Given the description of an element on the screen output the (x, y) to click on. 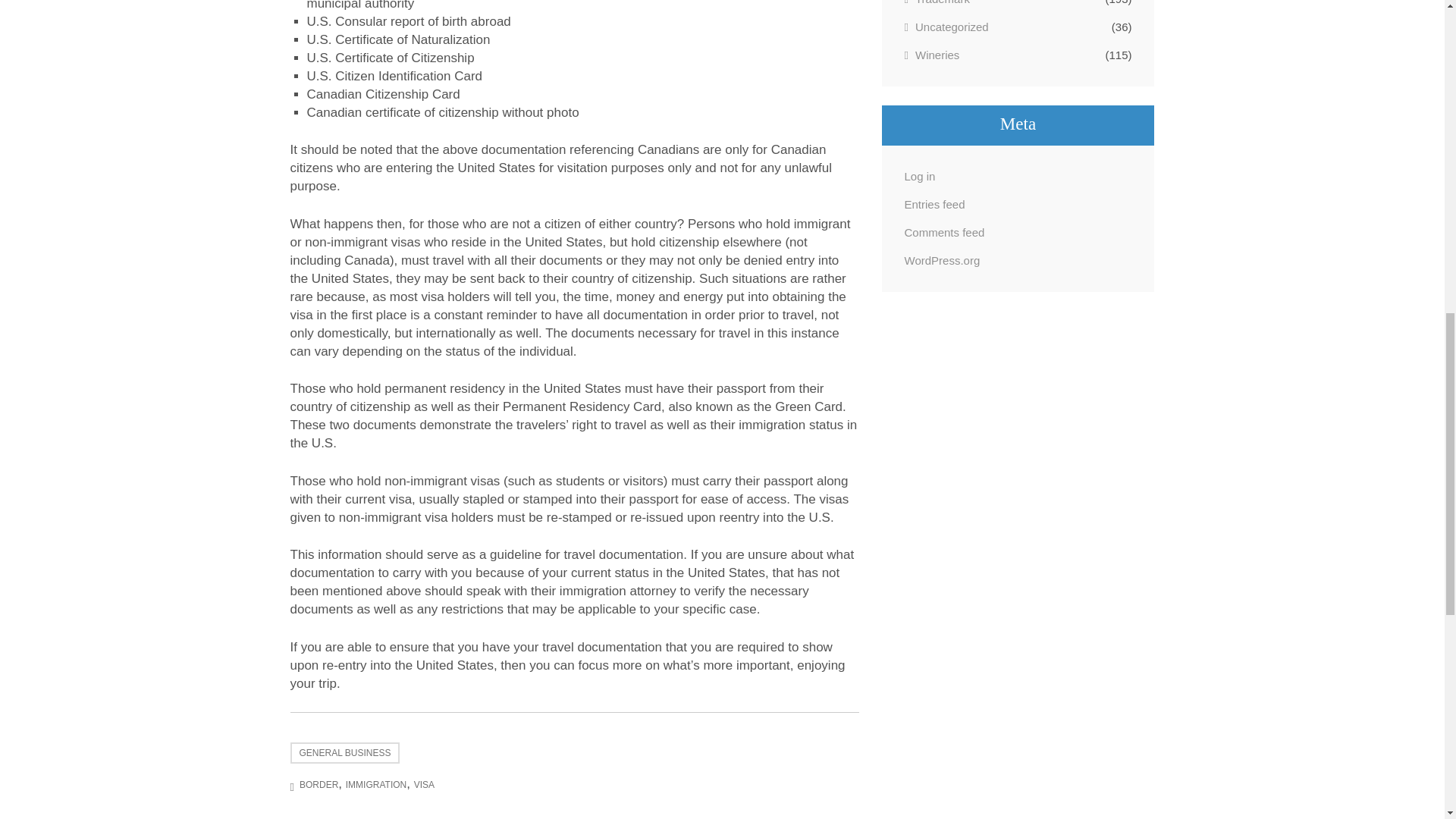
Uncategorized (946, 26)
Trademark (936, 3)
GENERAL BUSINESS (343, 752)
BORDER (318, 784)
Log in (919, 175)
VISA (423, 784)
IMMIGRATION (376, 784)
Wineries (931, 54)
